Given the description of an element on the screen output the (x, y) to click on. 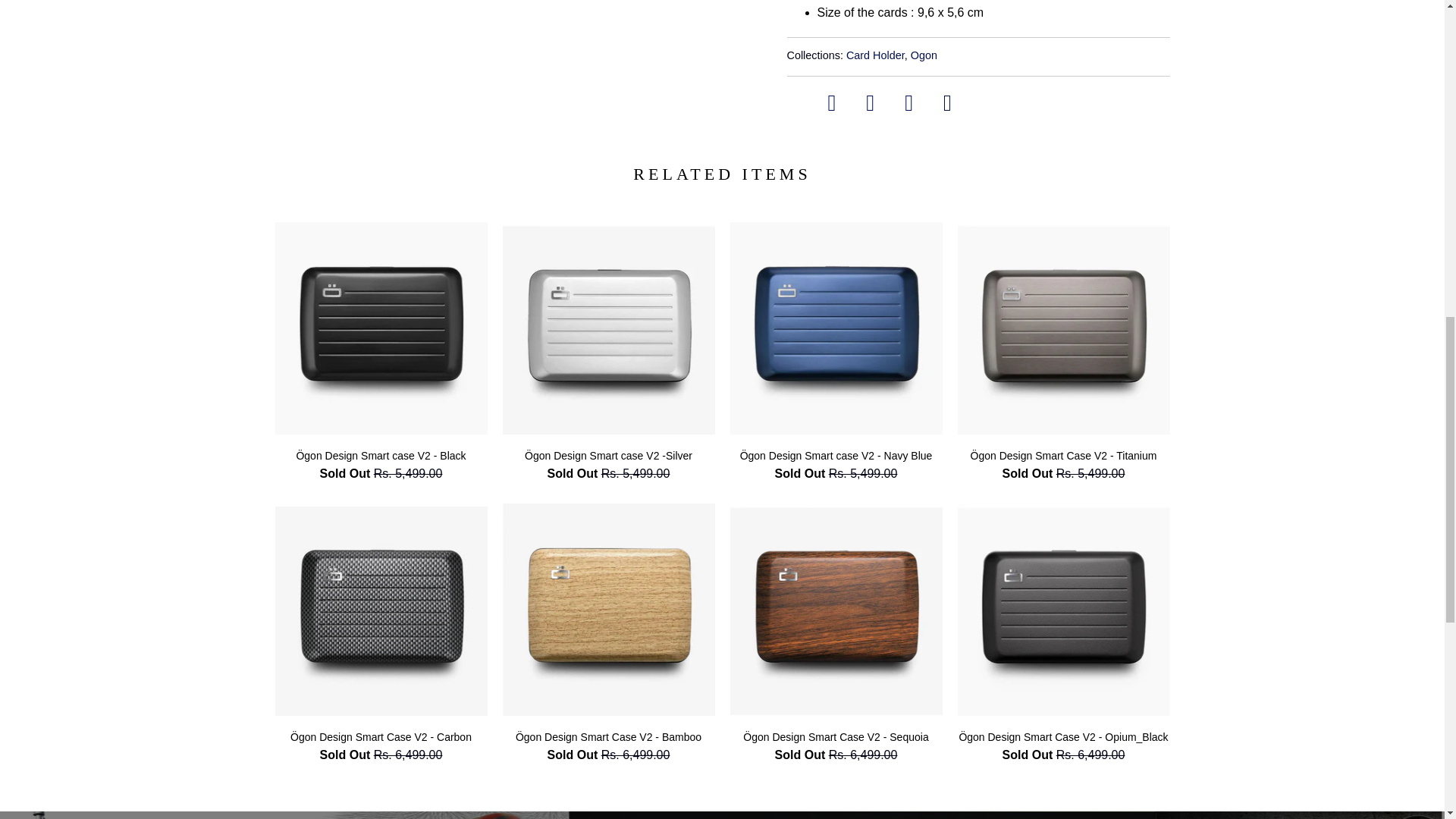
LIVTEK INDIA PVT LTD on Twitter (948, 102)
LIVTEK INDIA PVT LTD on Instagram (908, 102)
Card Holder (874, 55)
LIVTEK INDIA PVT LTD on LinkedIn (871, 102)
Ogon (924, 55)
LIVTEK INDIA PVT LTD on Facebook (832, 102)
